Given the description of an element on the screen output the (x, y) to click on. 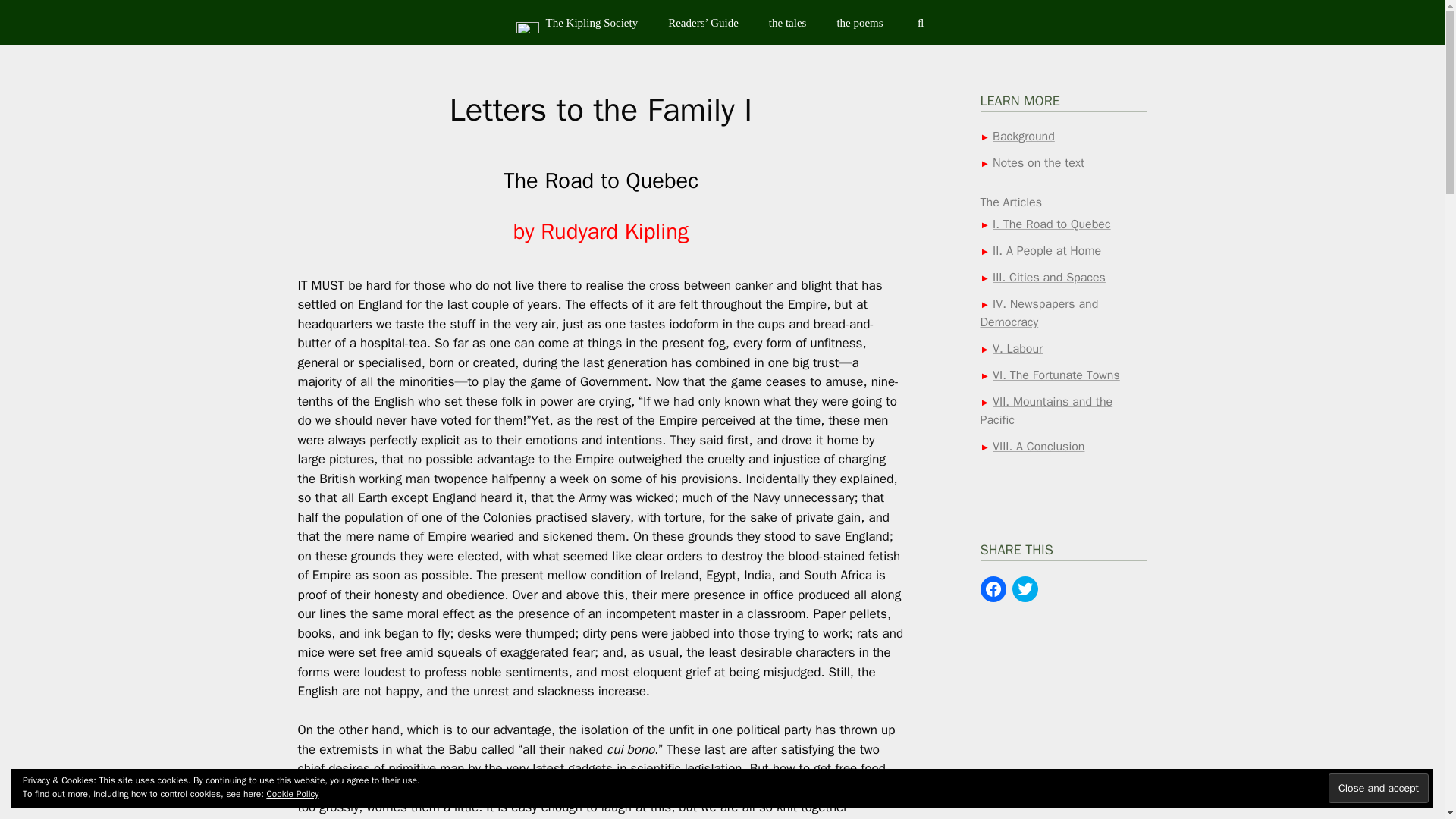
III. Cities and Spaces (1048, 277)
Background (1023, 136)
VIII. A Conclusion (1038, 446)
VII. Mountains and the Pacific (1045, 410)
Click to share on Twitter (1023, 588)
Close and accept (1377, 788)
Close and accept (1377, 788)
IV. Newspapers and Democracy (1038, 313)
II. A People at Home (1046, 250)
Notes on the text (1038, 162)
